Given the description of an element on the screen output the (x, y) to click on. 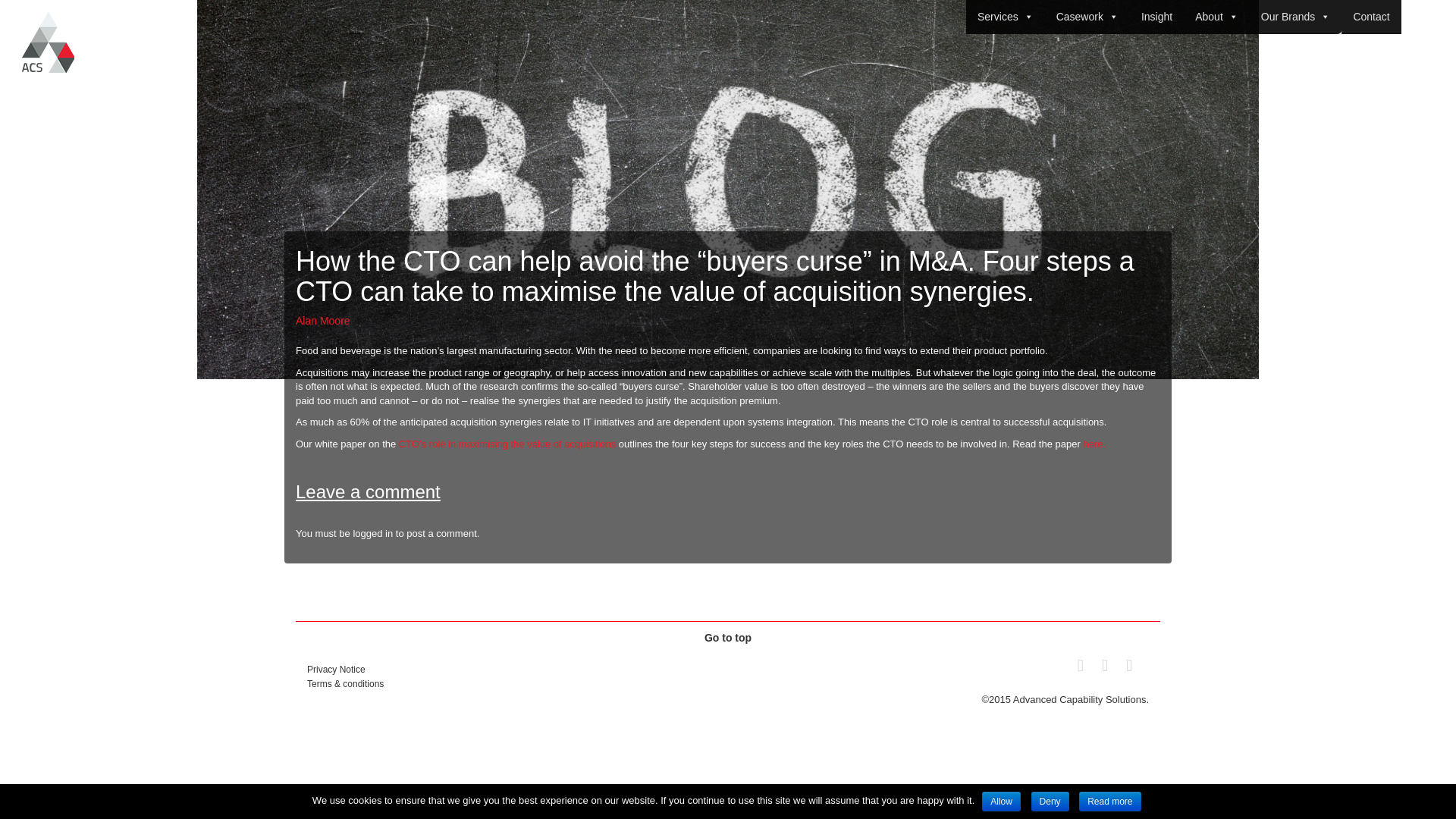
Casework (1087, 17)
About (1216, 17)
Services (1005, 17)
Insight (1156, 17)
